Given the description of an element on the screen output the (x, y) to click on. 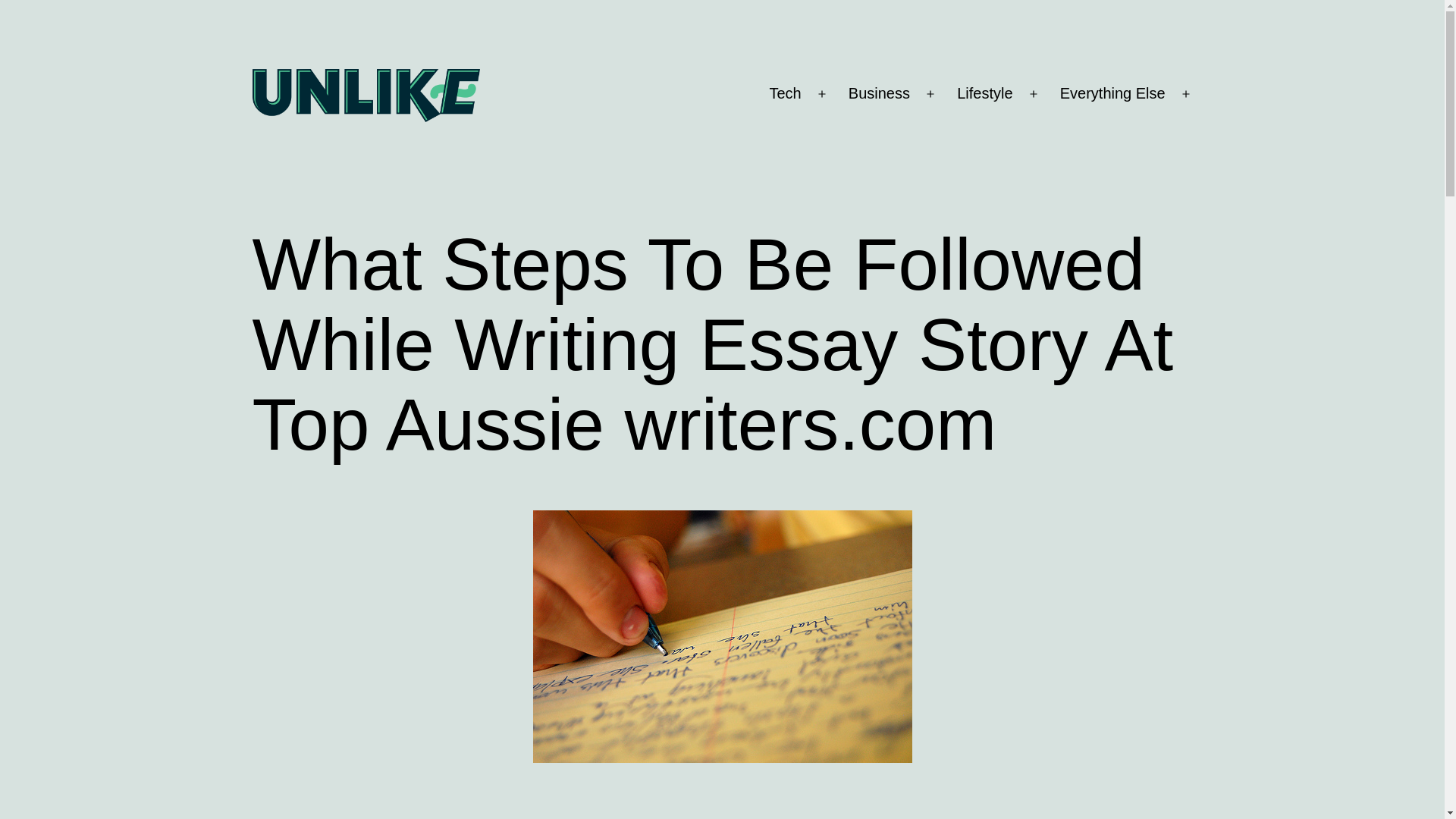
Open menu (821, 94)
Everything Else (1111, 94)
Open menu (1032, 94)
Open menu (930, 94)
Business (879, 94)
Tech (784, 94)
Open menu (1185, 94)
Lifestyle (985, 94)
